Given the description of an element on the screen output the (x, y) to click on. 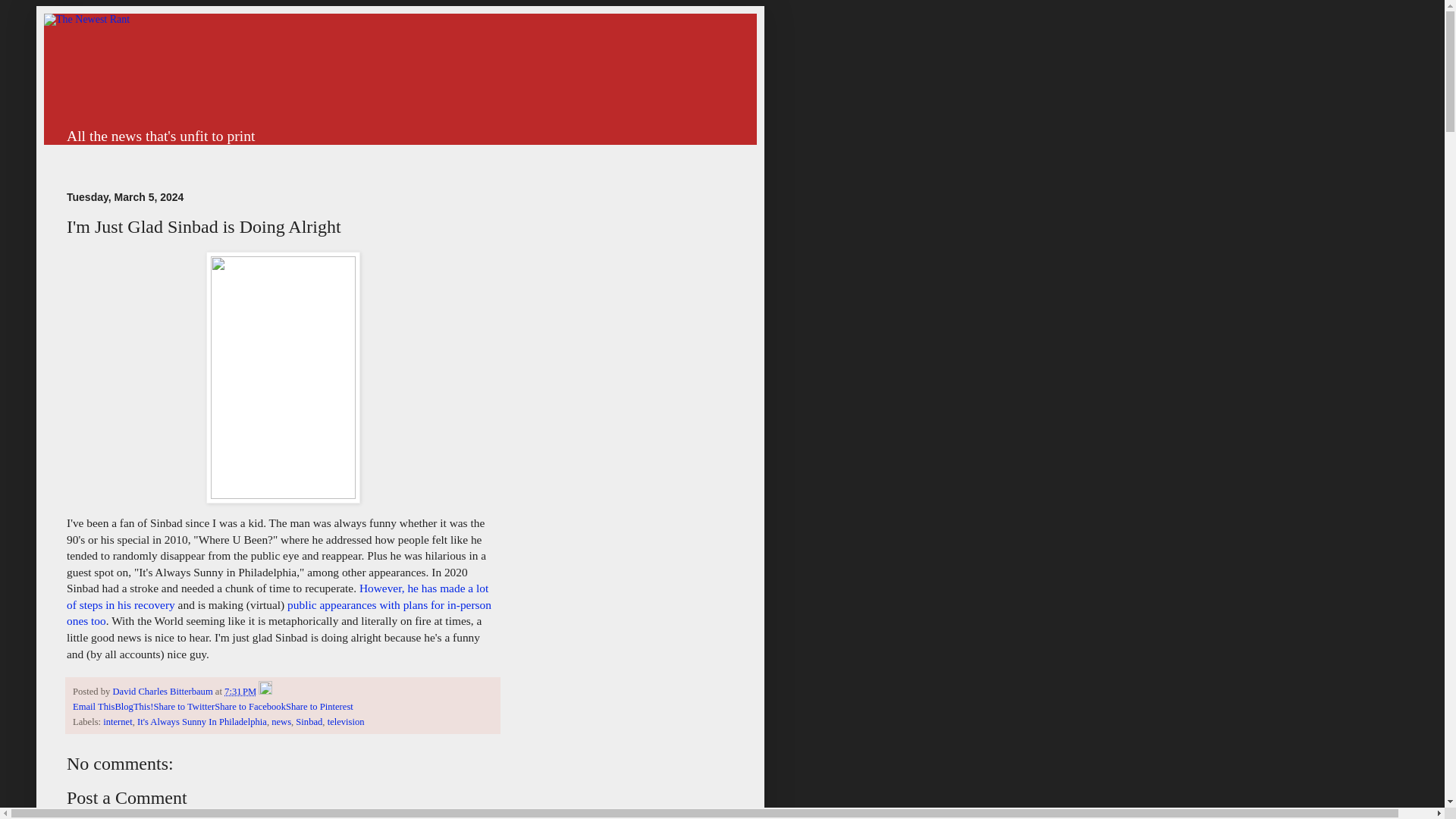
Share to Twitter (183, 706)
public appearances with plans for in-person ones too (279, 613)
Edit Post (265, 691)
Share to Facebook (249, 706)
Email This (93, 706)
Share to Pinterest (319, 706)
Share to Facebook (249, 706)
BlogThis! (133, 706)
Sinbad (308, 721)
Share to Pinterest (319, 706)
BlogThis! (133, 706)
However, he has made a lot of steps in his recovery (276, 595)
It's Always Sunny In Philadelphia (201, 721)
Share to Twitter (183, 706)
